Given the description of an element on the screen output the (x, y) to click on. 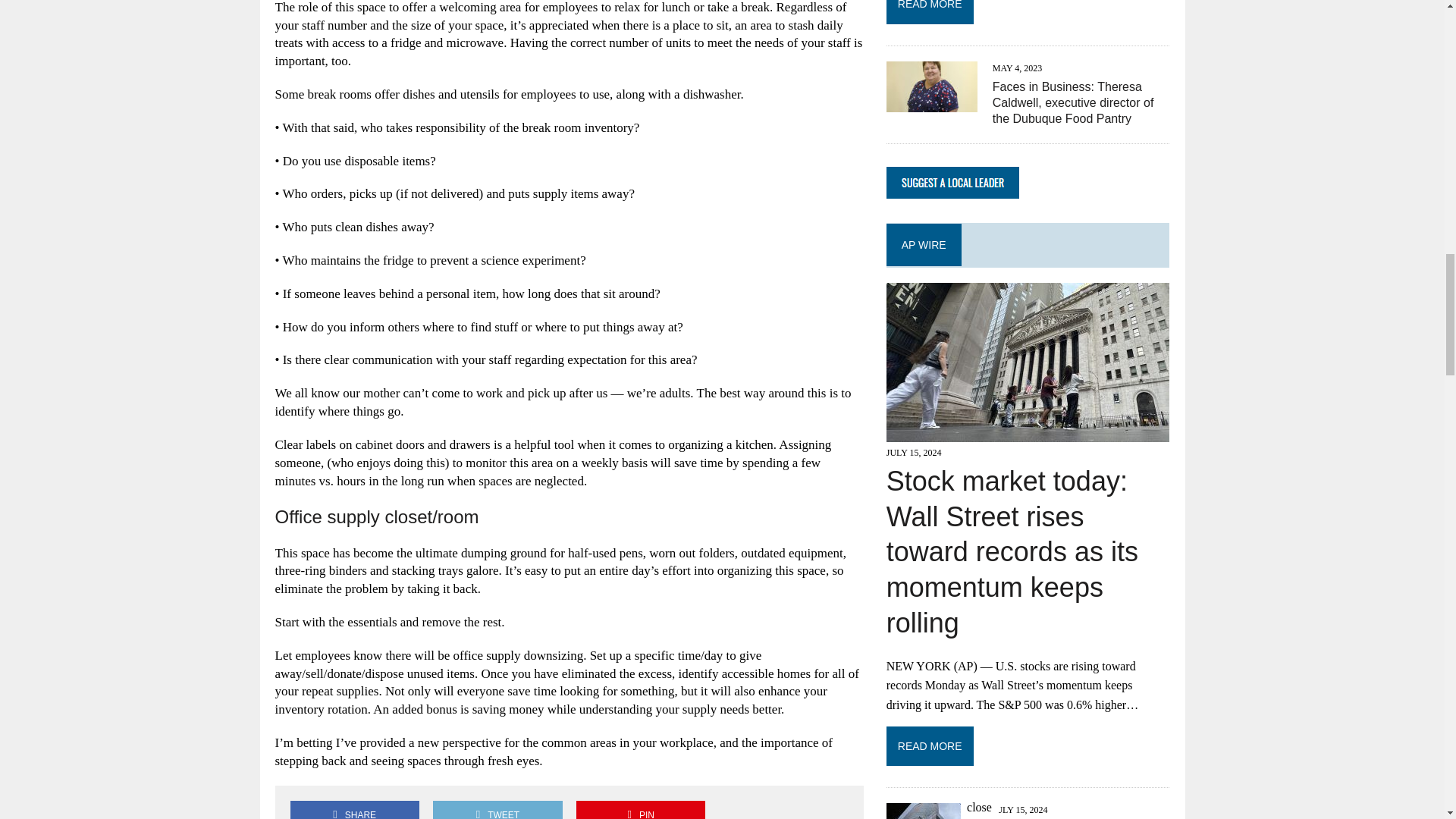
Share on Facebook (354, 809)
Pin This Post (640, 809)
Tweet This Post (497, 809)
